Given the description of an element on the screen output the (x, y) to click on. 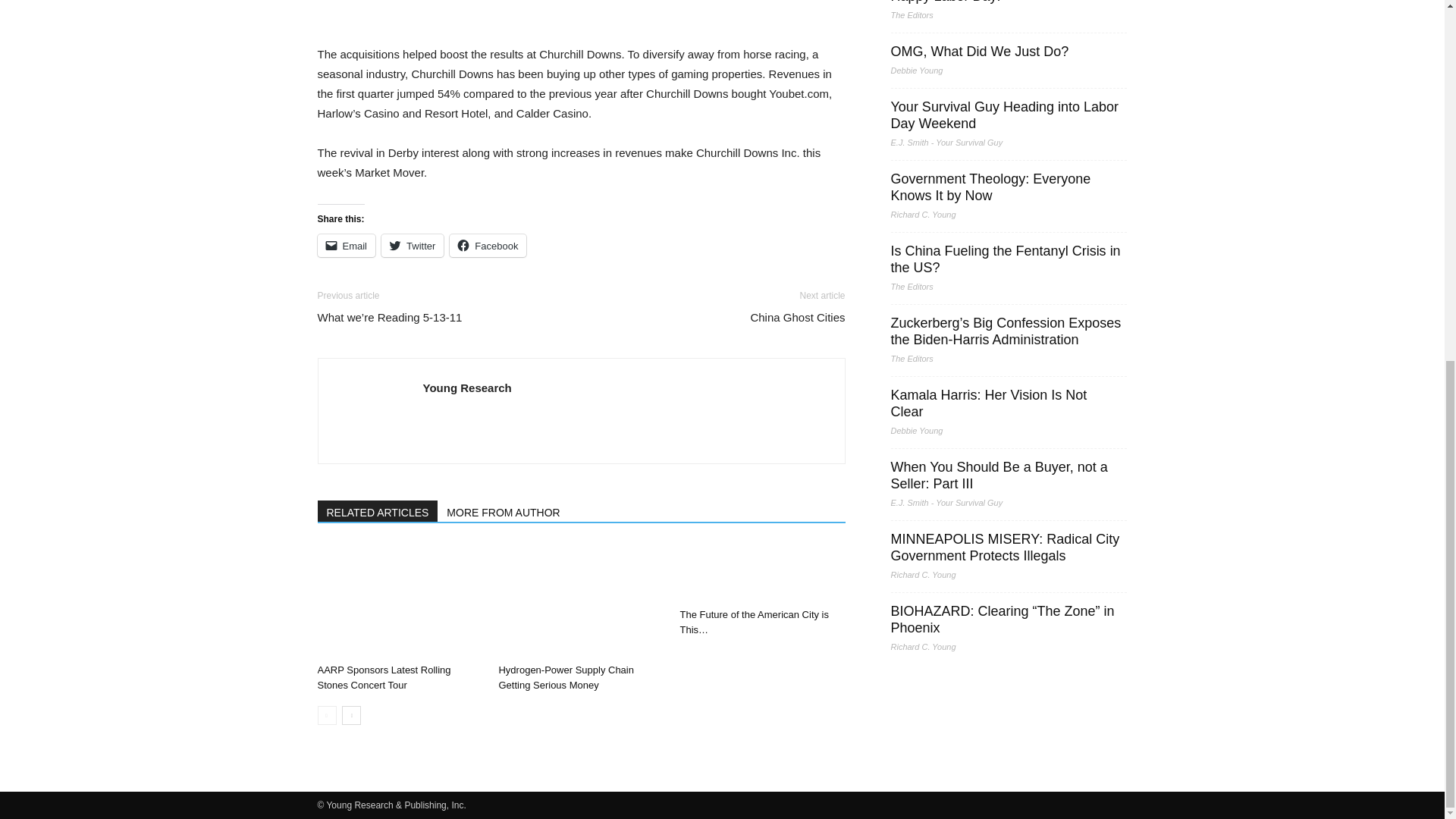
AARP Sponsors Latest Rolling Stones Concert Tour (383, 676)
Click to share on Twitter (412, 245)
Click to email a link to a friend (346, 245)
AARP Sponsors Latest Rolling Stones Concert Tour (399, 600)
Click to share on Facebook (487, 245)
Hydrogen-Power Supply Chain Getting Serious Money (580, 600)
Hydrogen-Power Supply Chain Getting Serious Money (565, 676)
